Given the description of an element on the screen output the (x, y) to click on. 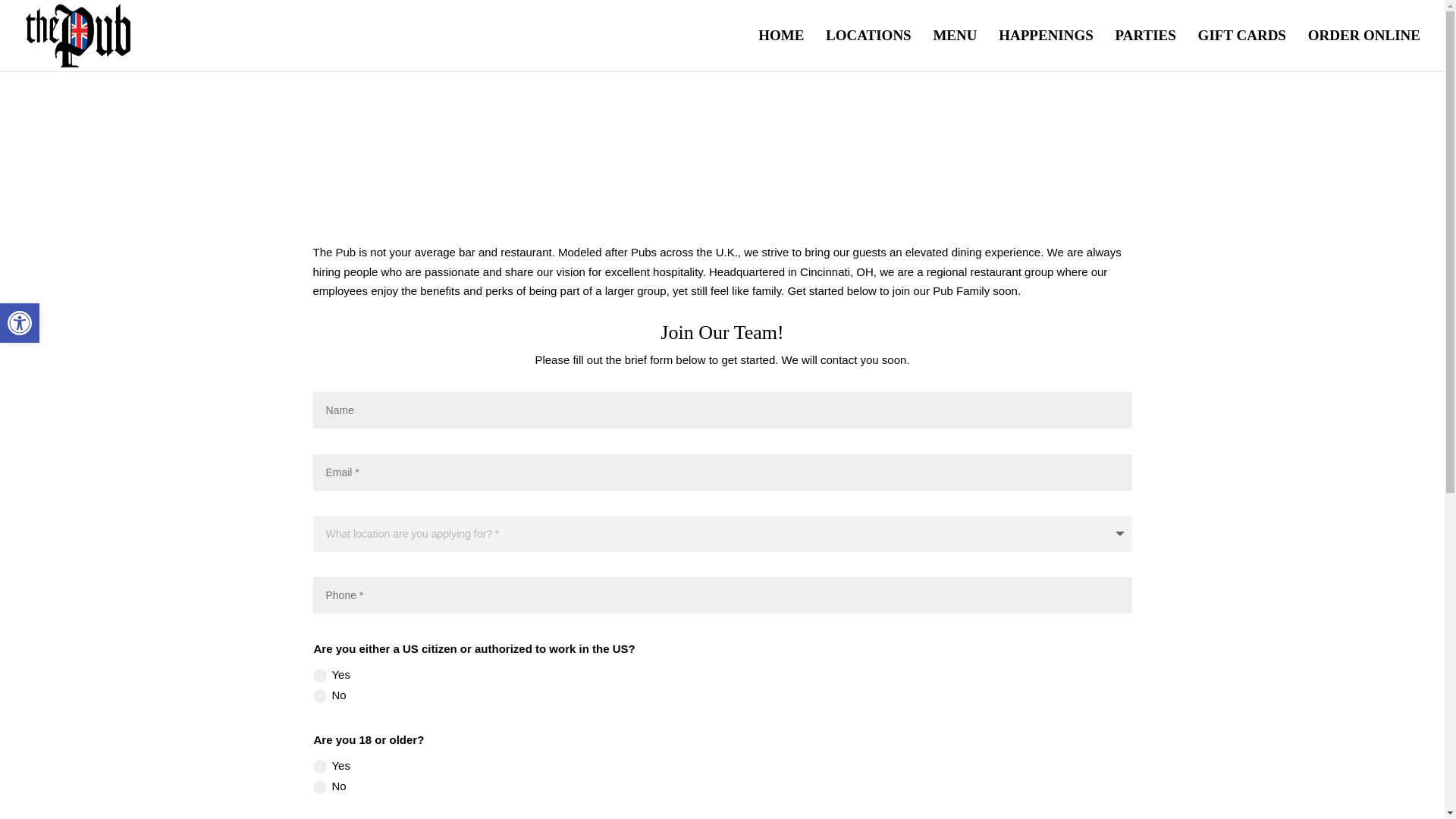
HOME (780, 50)
MENU (954, 50)
LOCATIONS (868, 50)
Accessibility Tools (19, 323)
ORDER ONLINE (19, 322)
GIFT CARDS (1364, 50)
HAPPENINGS (1241, 50)
Accessibility Tools (1045, 50)
PARTIES (19, 323)
